Given the description of an element on the screen output the (x, y) to click on. 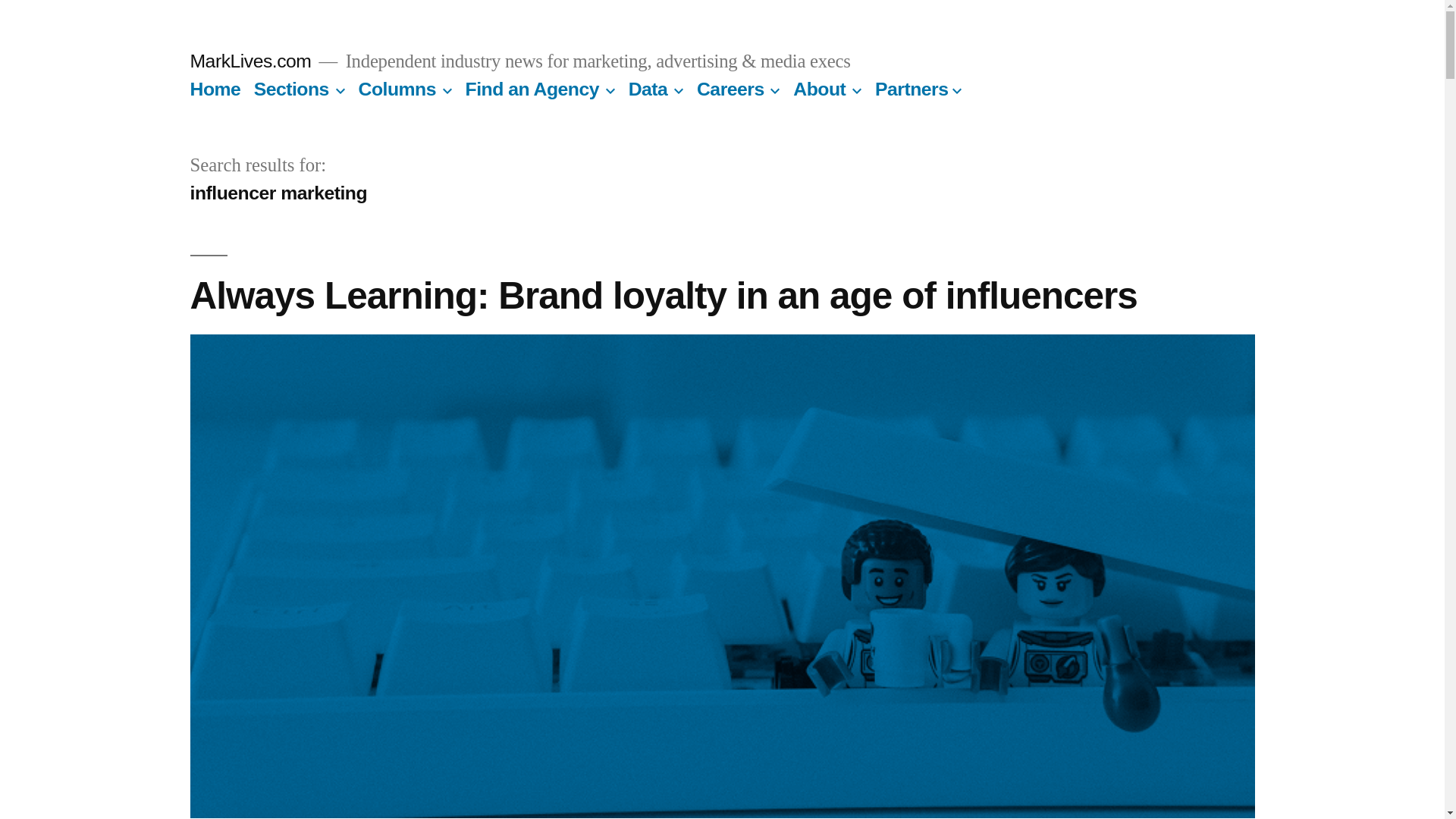
MarkLives.com (250, 60)
Columns (396, 88)
Sections (291, 88)
Home (214, 88)
